Given the description of an element on the screen output the (x, y) to click on. 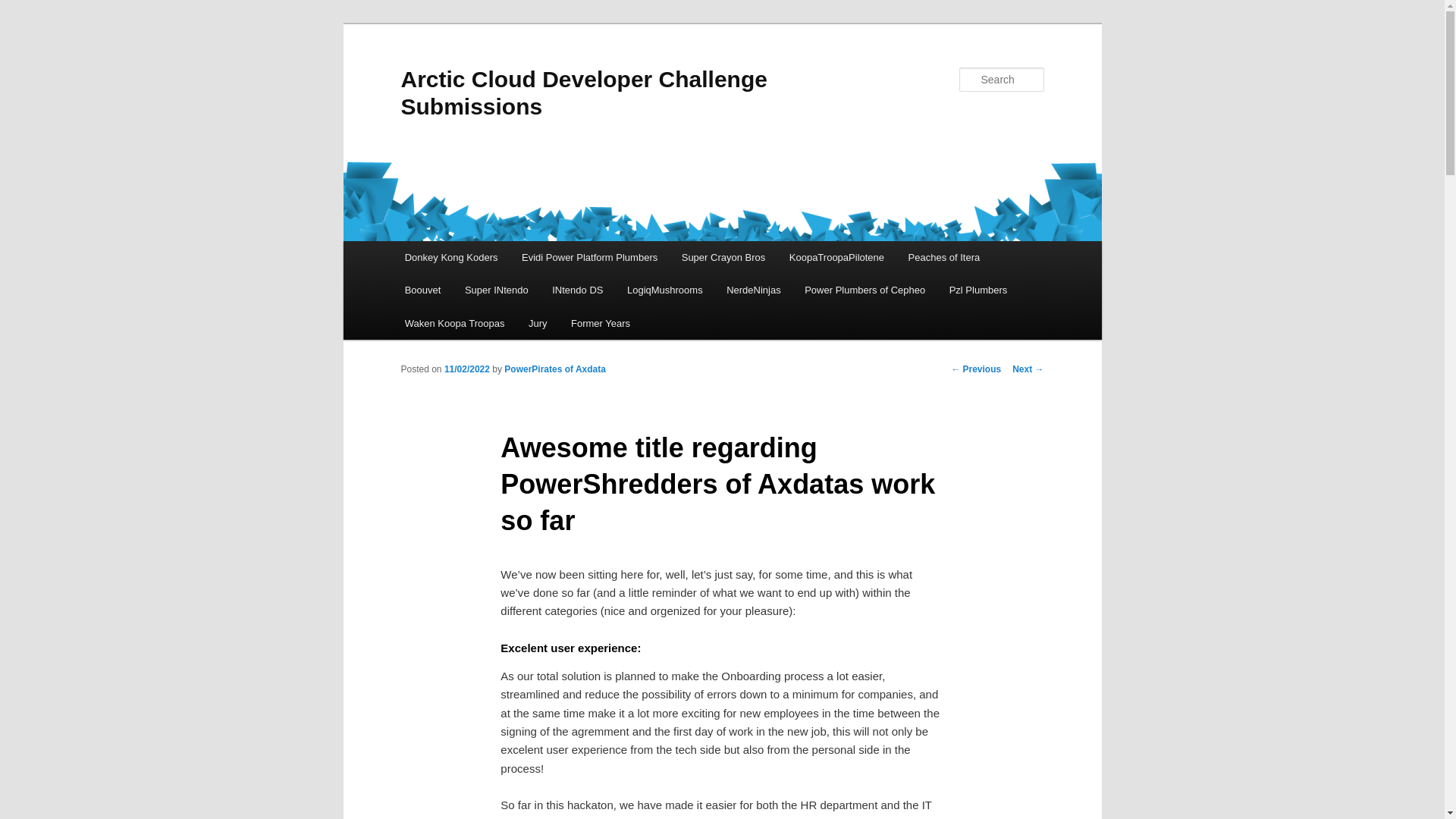
Peaches of Itera (943, 256)
View all posts by PowerPirates of Axdata (554, 368)
LogiqMushrooms (664, 289)
INtendo DS (577, 289)
Search (24, 8)
Boouvet (422, 289)
Super INtendo (496, 289)
Jury (537, 323)
Evidi Power Platform Plumbers (589, 256)
KoopaTroopaPilotene (836, 256)
Arctic Cloud Developer Challenge Submissions (583, 92)
Donkey Kong Koders (451, 256)
Pzl Plumbers (978, 289)
Super Crayon Bros (723, 256)
